Given the description of an element on the screen output the (x, y) to click on. 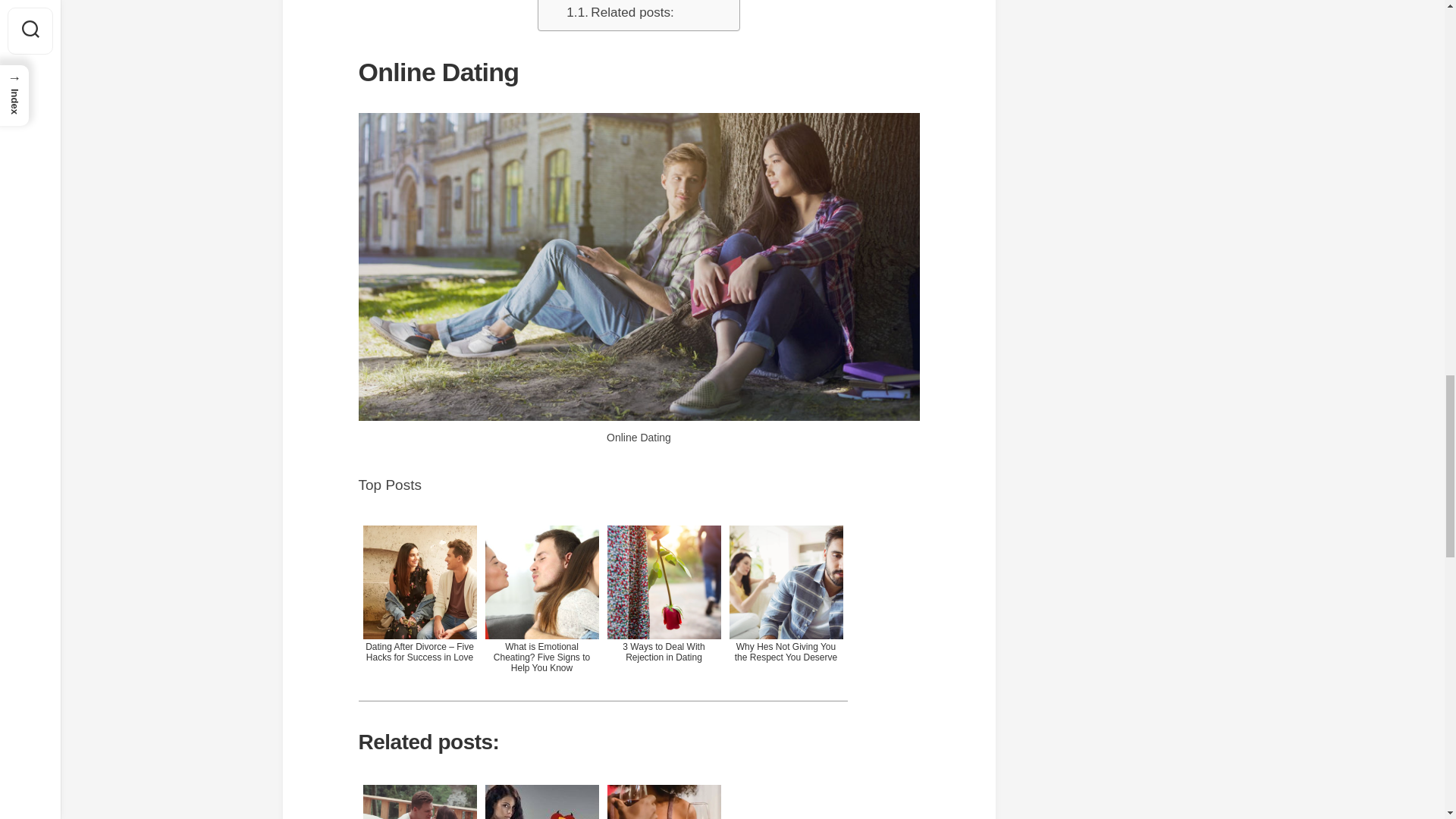
Related posts: (619, 12)
BeNaughty com Reviews: Update January 2024 (542, 799)
Related posts: (619, 12)
Online Dating (594, 1)
How to Date After Divorce: The Top Tips You Should Know (663, 799)
Online Dating (594, 1)
